Given the description of an element on the screen output the (x, y) to click on. 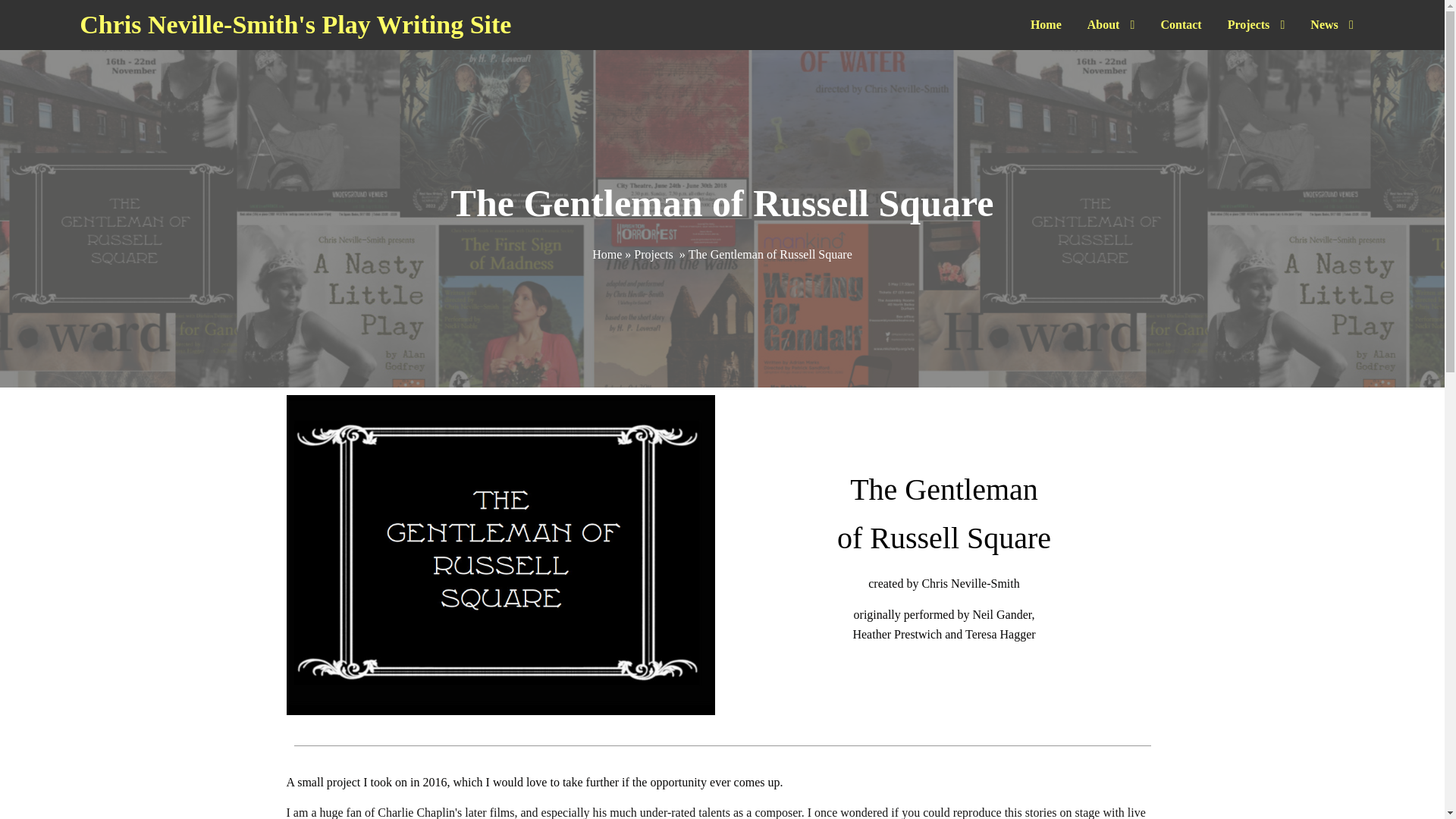
Contact (1180, 24)
Chris Neville-Smith'S Play Writing Site (446, 24)
News (1331, 24)
Home (1046, 24)
About (1111, 24)
Projects (1256, 24)
Home (606, 254)
